Given the description of an element on the screen output the (x, y) to click on. 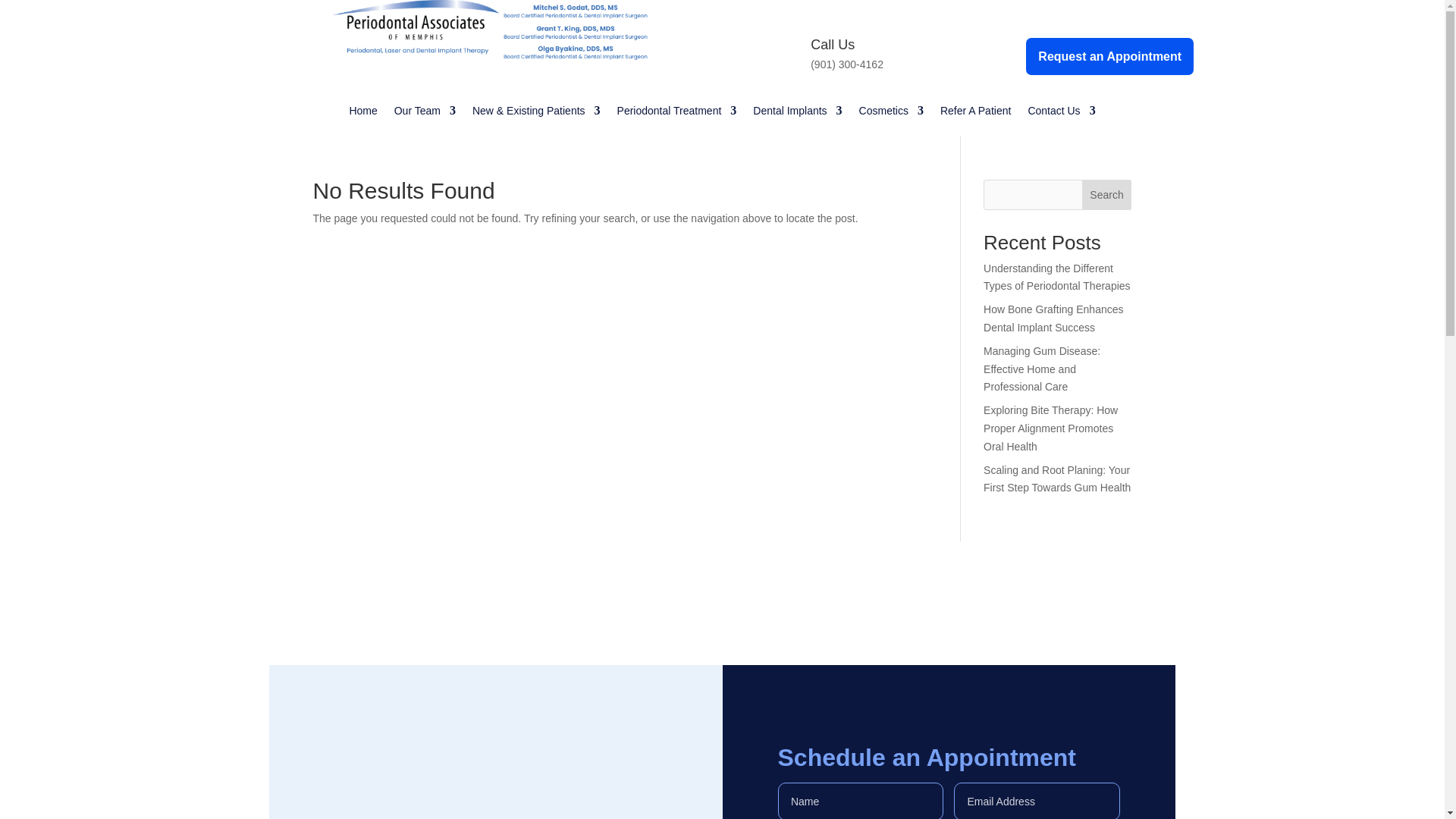
Request an Appointment (1109, 56)
Call Us (832, 44)
44 (490, 54)
Dental Implants (796, 123)
Our Team (424, 123)
Periodontal Treatment (676, 123)
Home (363, 123)
